Given the description of an element on the screen output the (x, y) to click on. 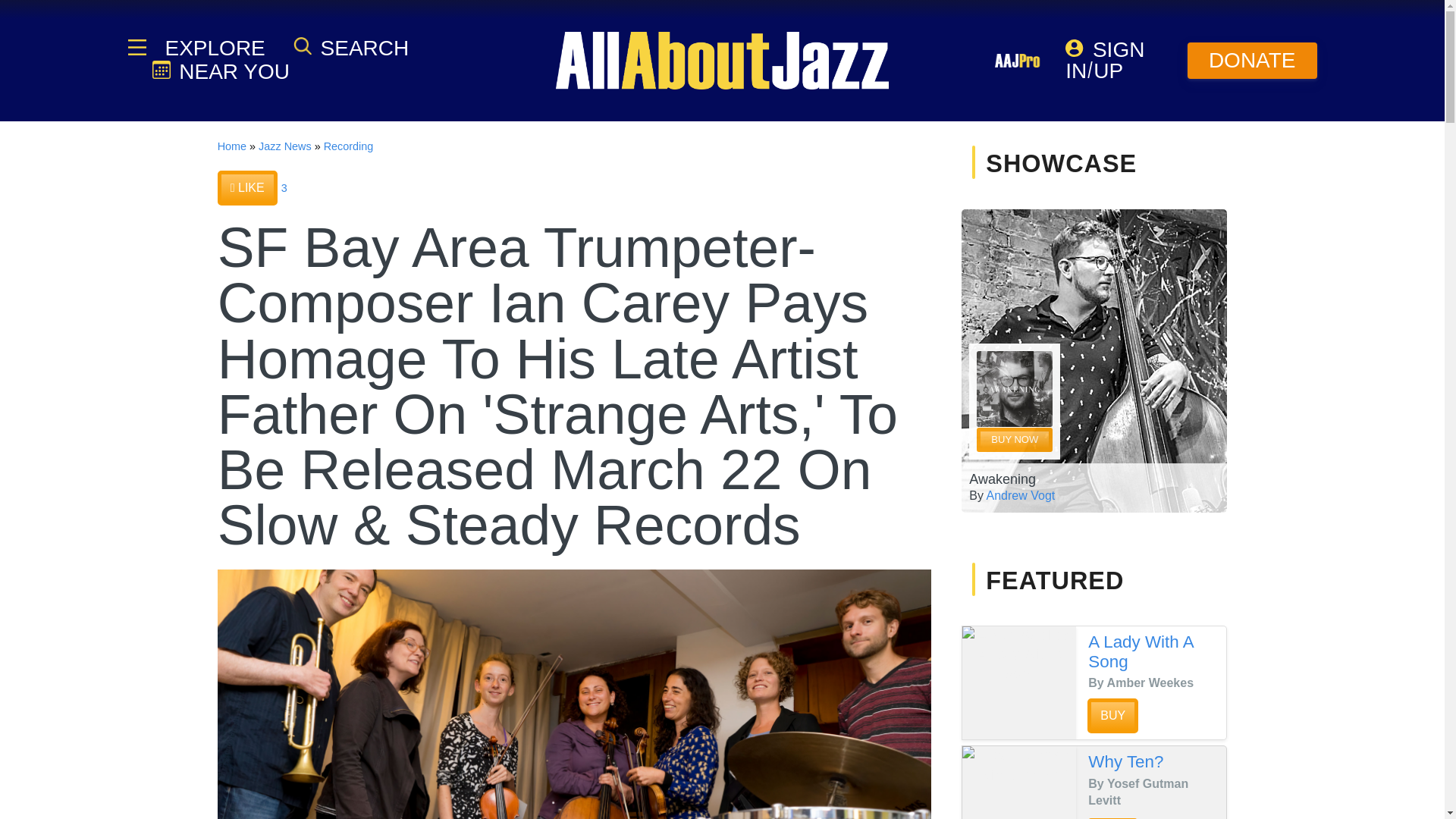
DONATE (1252, 60)
All About Jazz Jazz News (285, 146)
All About Jazz For Professionals (1018, 60)
Recording (348, 146)
Jazz News (285, 146)
EXPLORE (212, 47)
SEARCH (351, 47)
Explore the vast grandeur of All About Jazz (212, 47)
View jazz concerts near you (220, 71)
Search All About Jazz by category (351, 47)
